Given the description of an element on the screen output the (x, y) to click on. 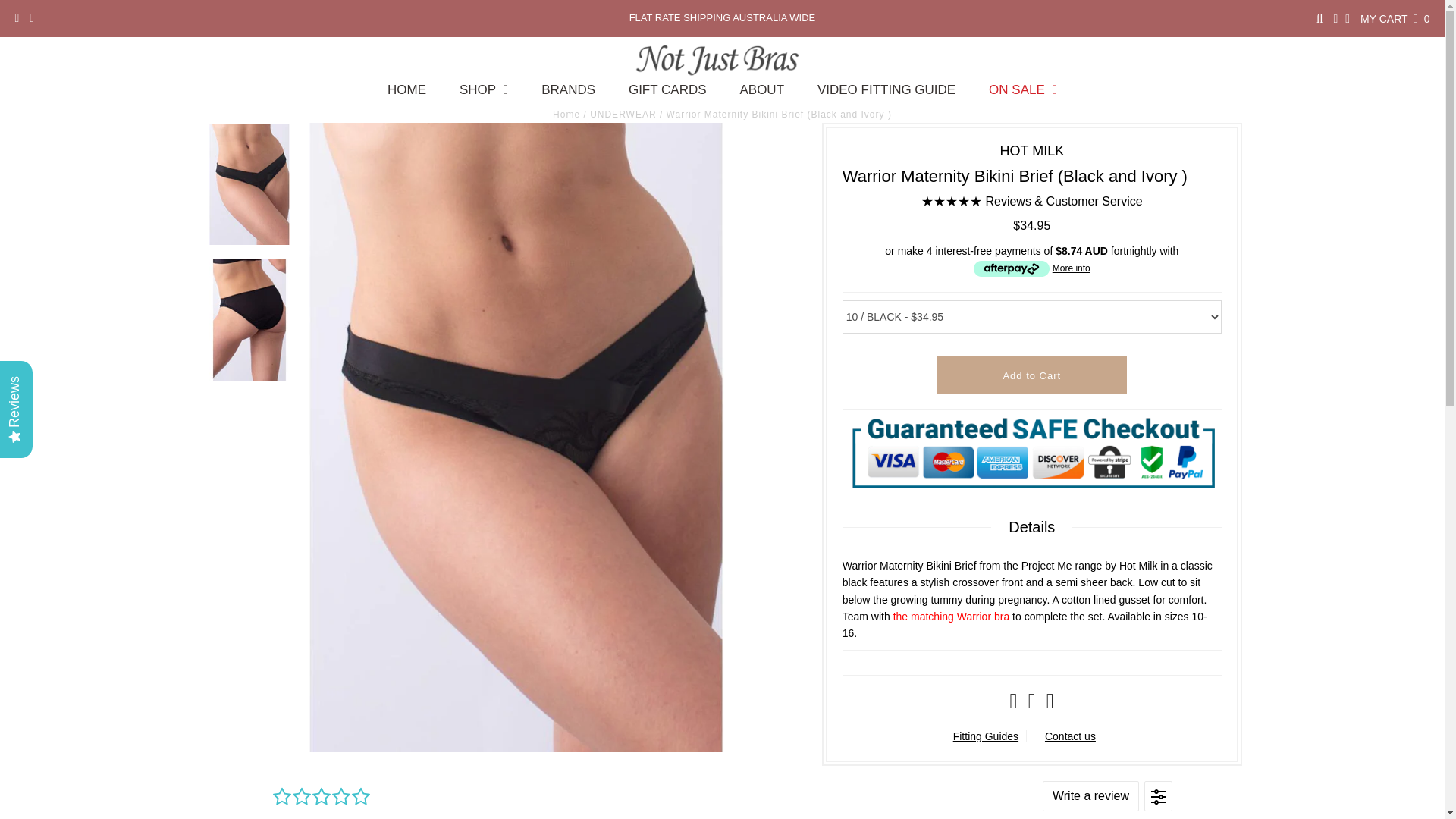
Share on Twitter (1031, 704)
Share on Facebook (1013, 704)
SHOP (483, 91)
MY CART    0 (1394, 19)
Product reviews widget (721, 792)
UNDERWEAR (622, 113)
Share on Pinterest (1050, 704)
Home (566, 113)
HOME (406, 91)
Add to Cart (1031, 374)
